Given the description of an element on the screen output the (x, y) to click on. 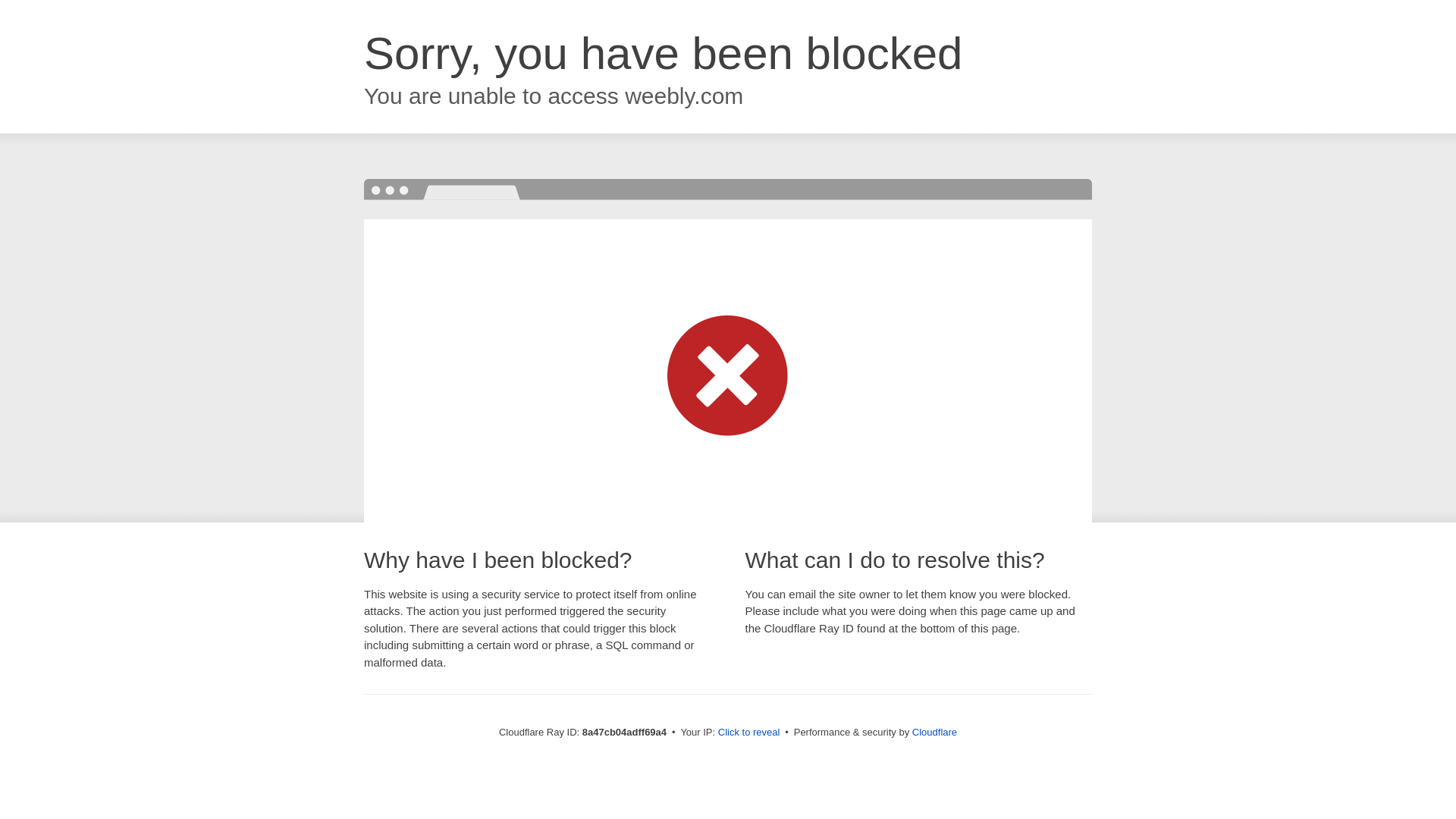
Click to reveal (748, 732)
Cloudflare (934, 731)
